Given the description of an element on the screen output the (x, y) to click on. 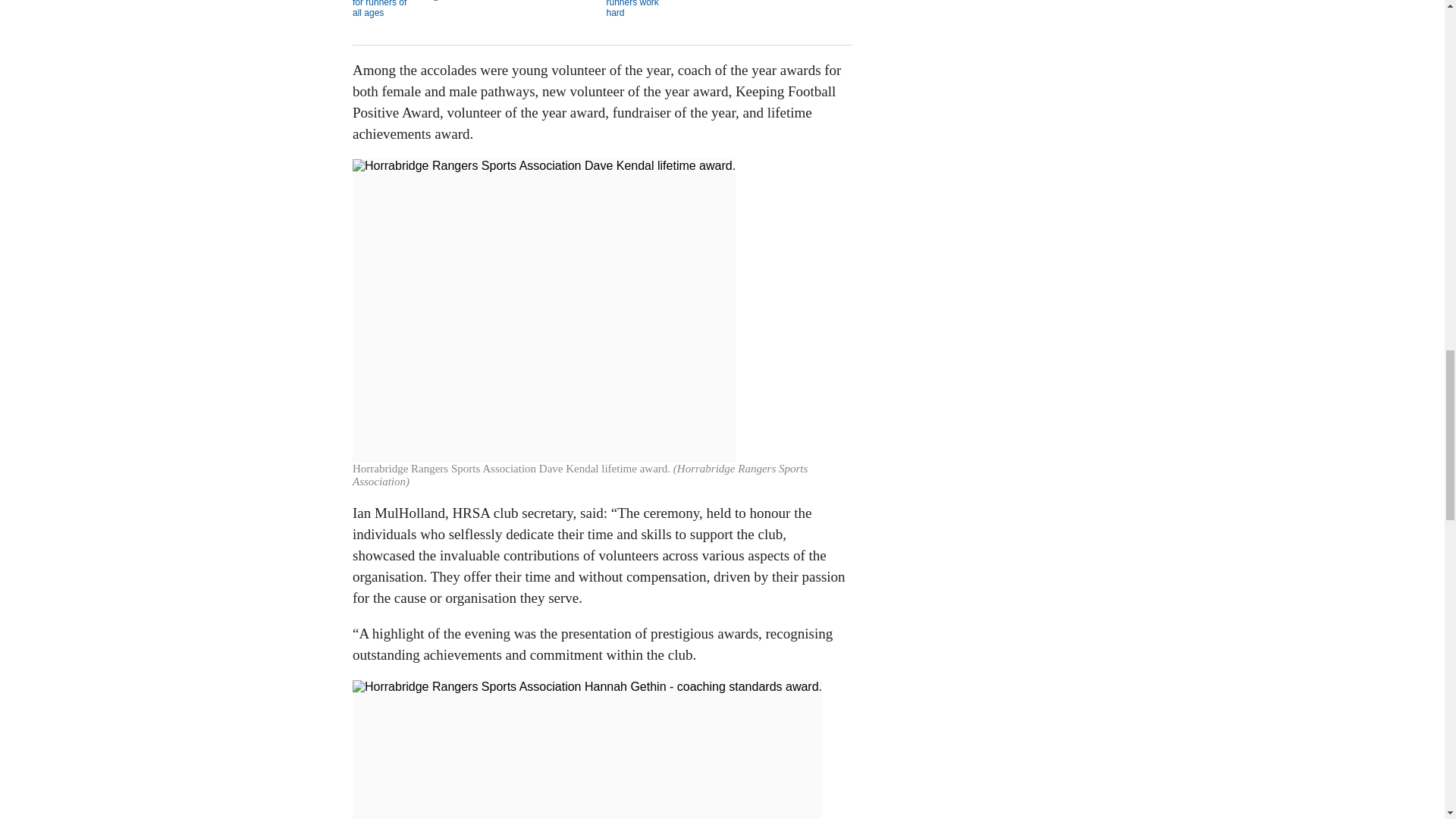
Heavy mud made runners work hard (727, 12)
Days to celebrate for runners of all ages (473, 12)
